Given the description of an element on the screen output the (x, y) to click on. 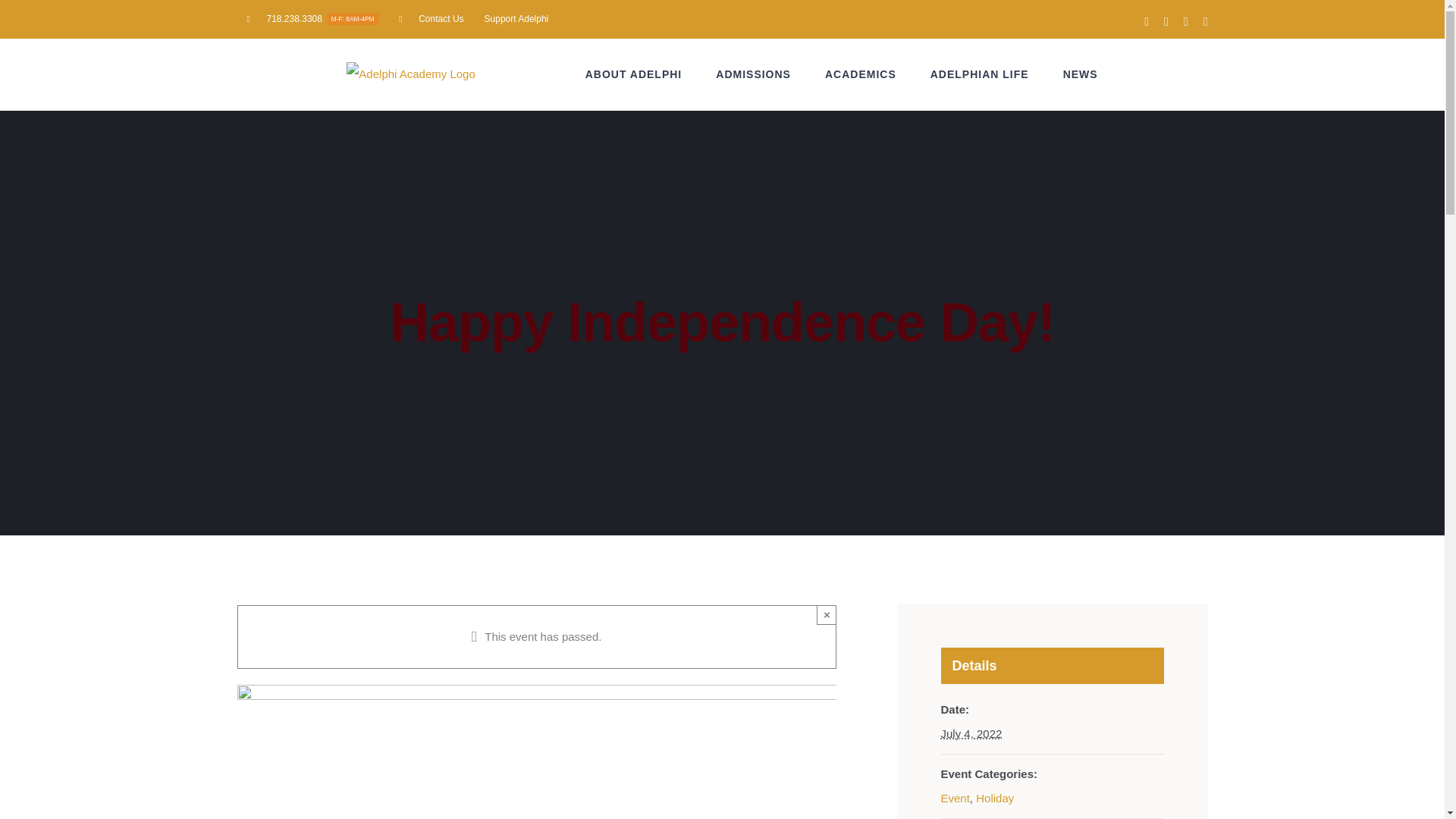
Contact Us (430, 18)
ADELPHIAN LIFE (979, 74)
Support Adelphi (516, 18)
2022-07-04 (311, 18)
ADMISSIONS (970, 733)
ACADEMICS (753, 74)
ABOUT ADELPHI (860, 74)
